Given the description of an element on the screen output the (x, y) to click on. 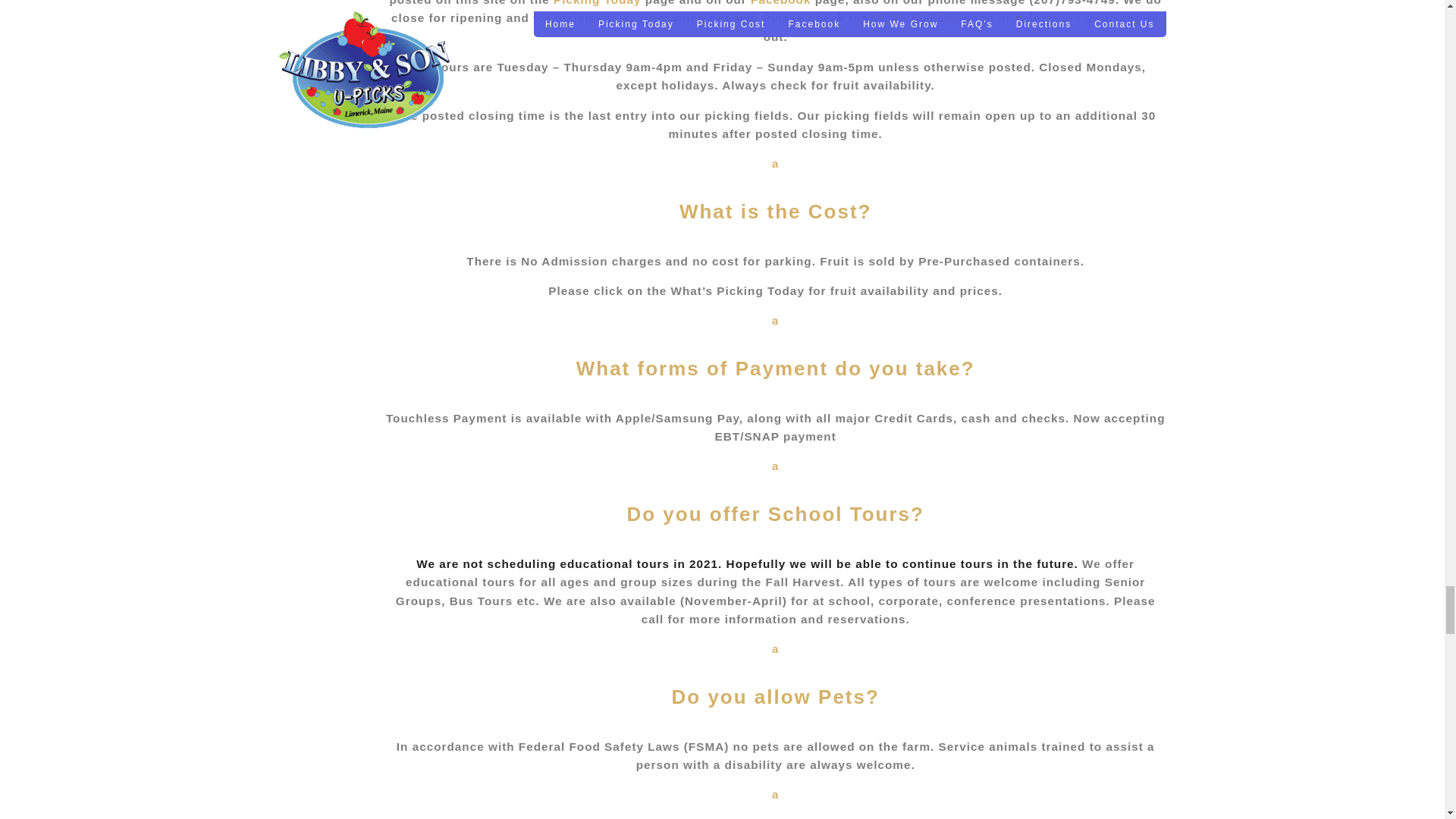
Picking Today (775, 675)
Facebook (775, 190)
Picking Today (775, 802)
